Given the description of an element on the screen output the (x, y) to click on. 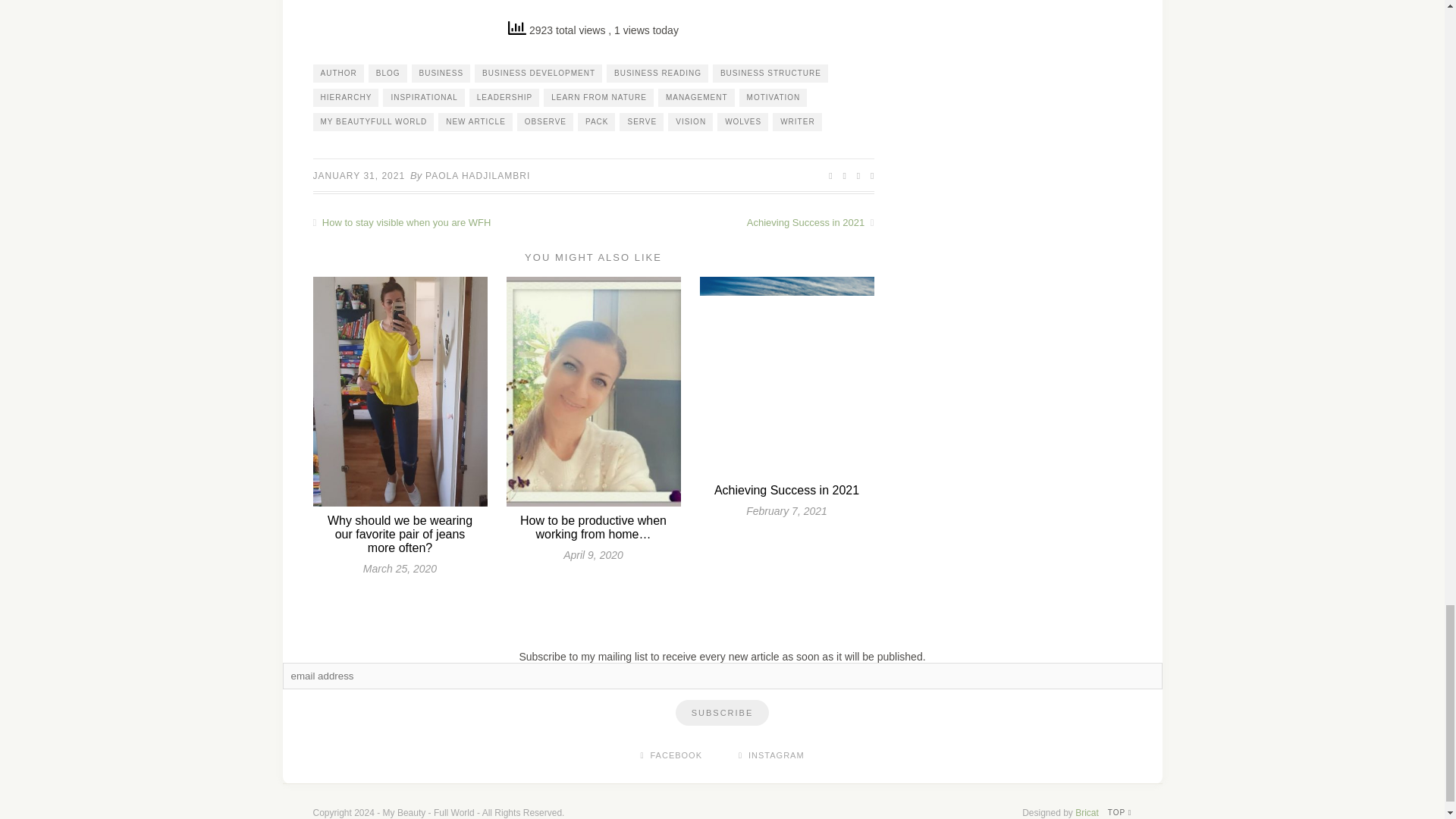
Subscribe (722, 712)
BUSINESS READING (657, 73)
HIERARCHY (345, 97)
BUSINESS (441, 73)
Posts by Paola Hadjilambri (477, 175)
BLOG (387, 73)
BUSINESS STRUCTURE (770, 73)
AUTHOR (337, 73)
BUSINESS DEVELOPMENT (538, 73)
